Given the description of an element on the screen output the (x, y) to click on. 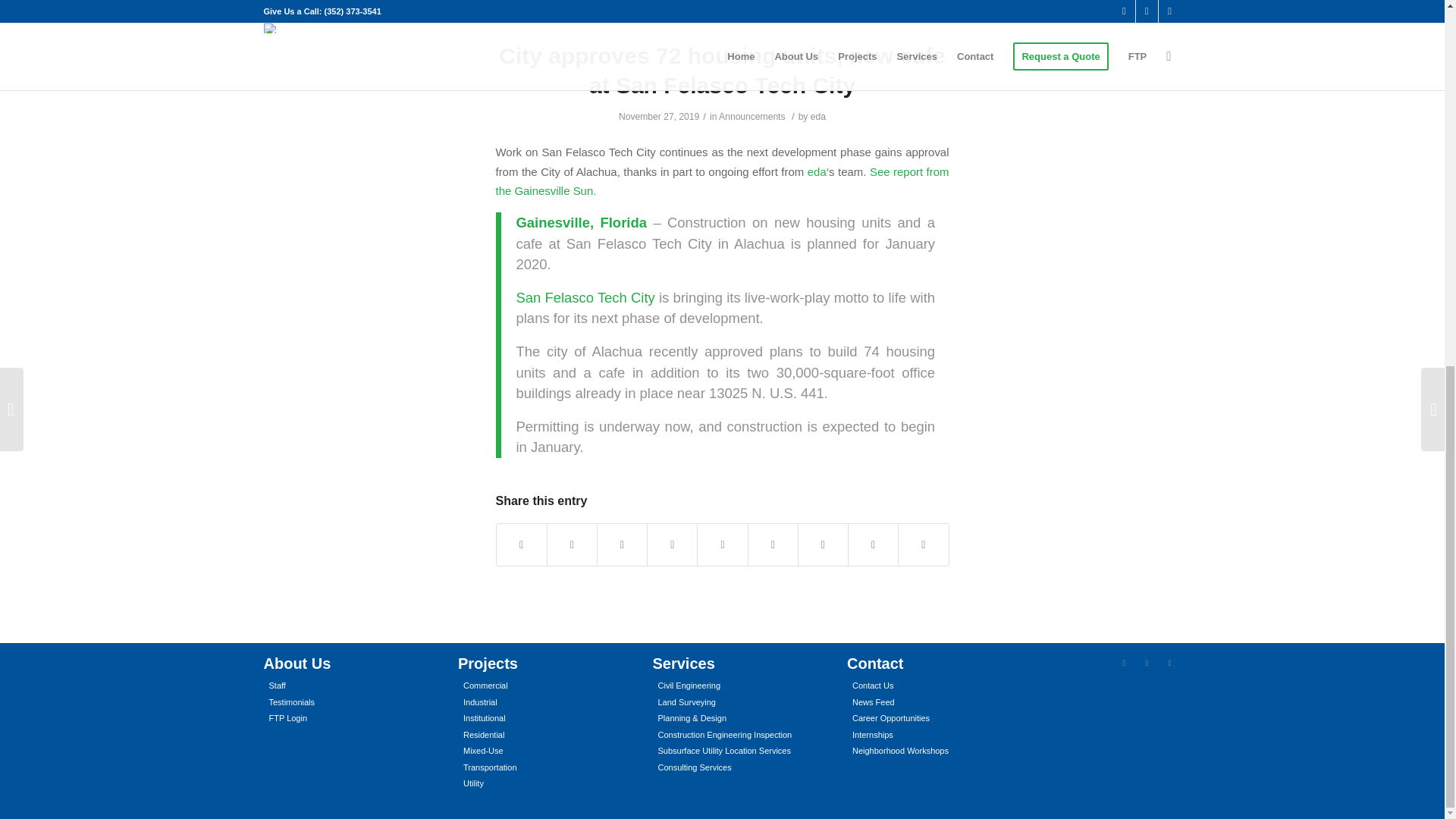
Announcements (751, 116)
Posts by eda (817, 116)
Sun article on Fracture at Tech City (584, 297)
tech city construction (721, 11)
San Felasco Tech City (584, 297)
eda (817, 116)
See report from the Gainesville Sun. (722, 181)
